Given the description of an element on the screen output the (x, y) to click on. 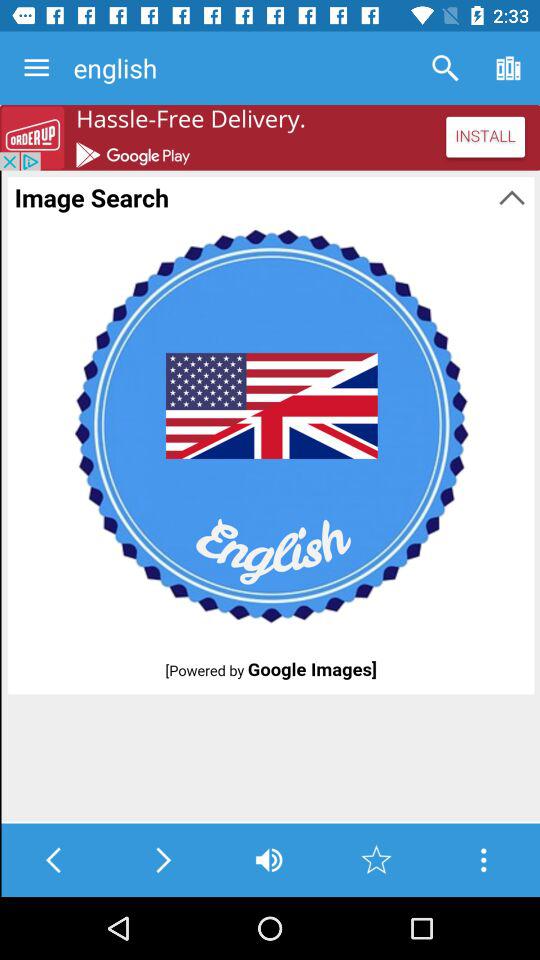
rating star (376, 859)
